Given the description of an element on the screen output the (x, y) to click on. 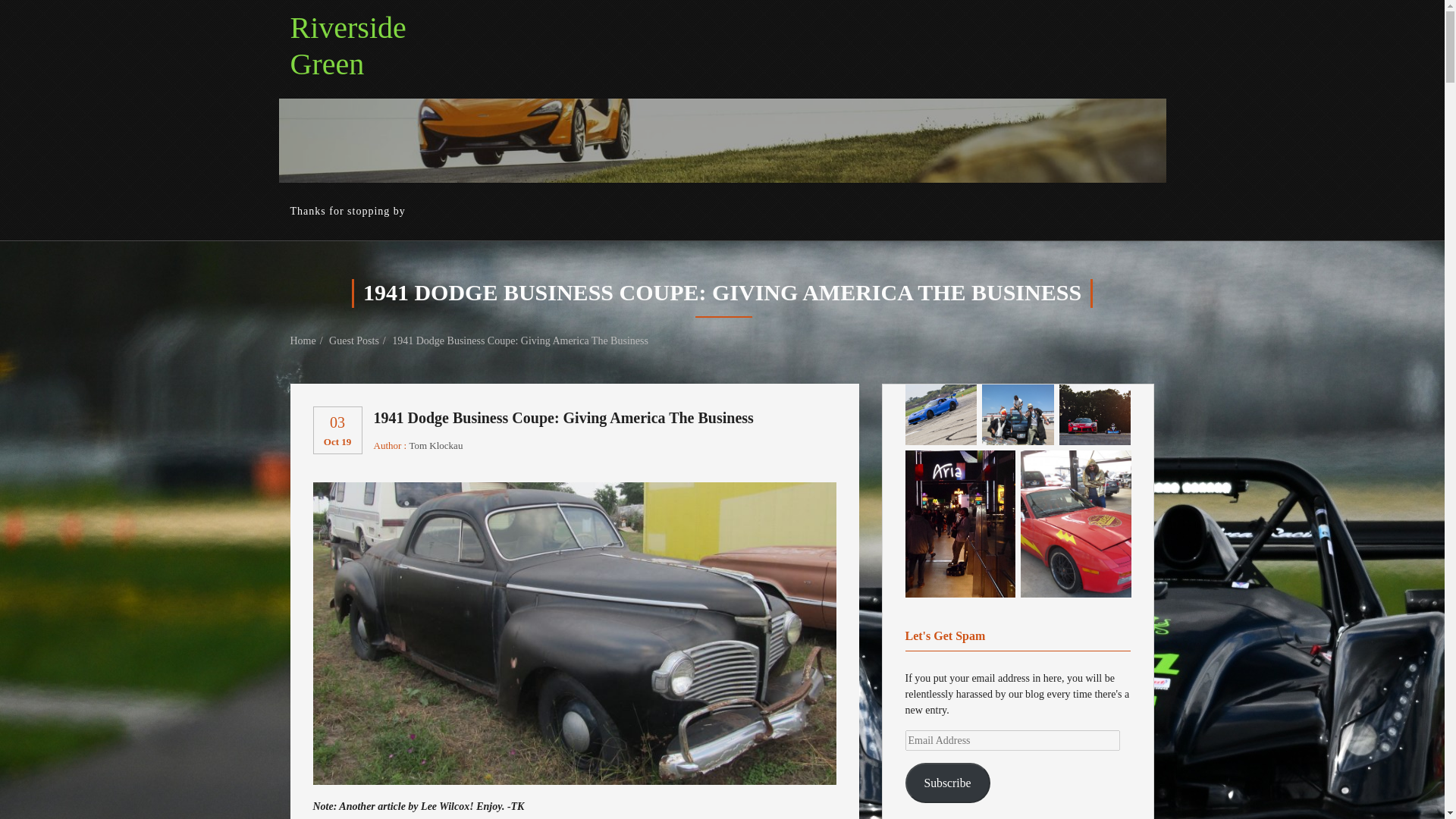
Riverside Green (347, 45)
Guest Posts (359, 340)
View all posts by Tom Klockau (436, 445)
Thanks for stopping by (352, 211)
Tom Klockau (436, 445)
Home (336, 429)
Riverside Green (307, 340)
